Given the description of an element on the screen output the (x, y) to click on. 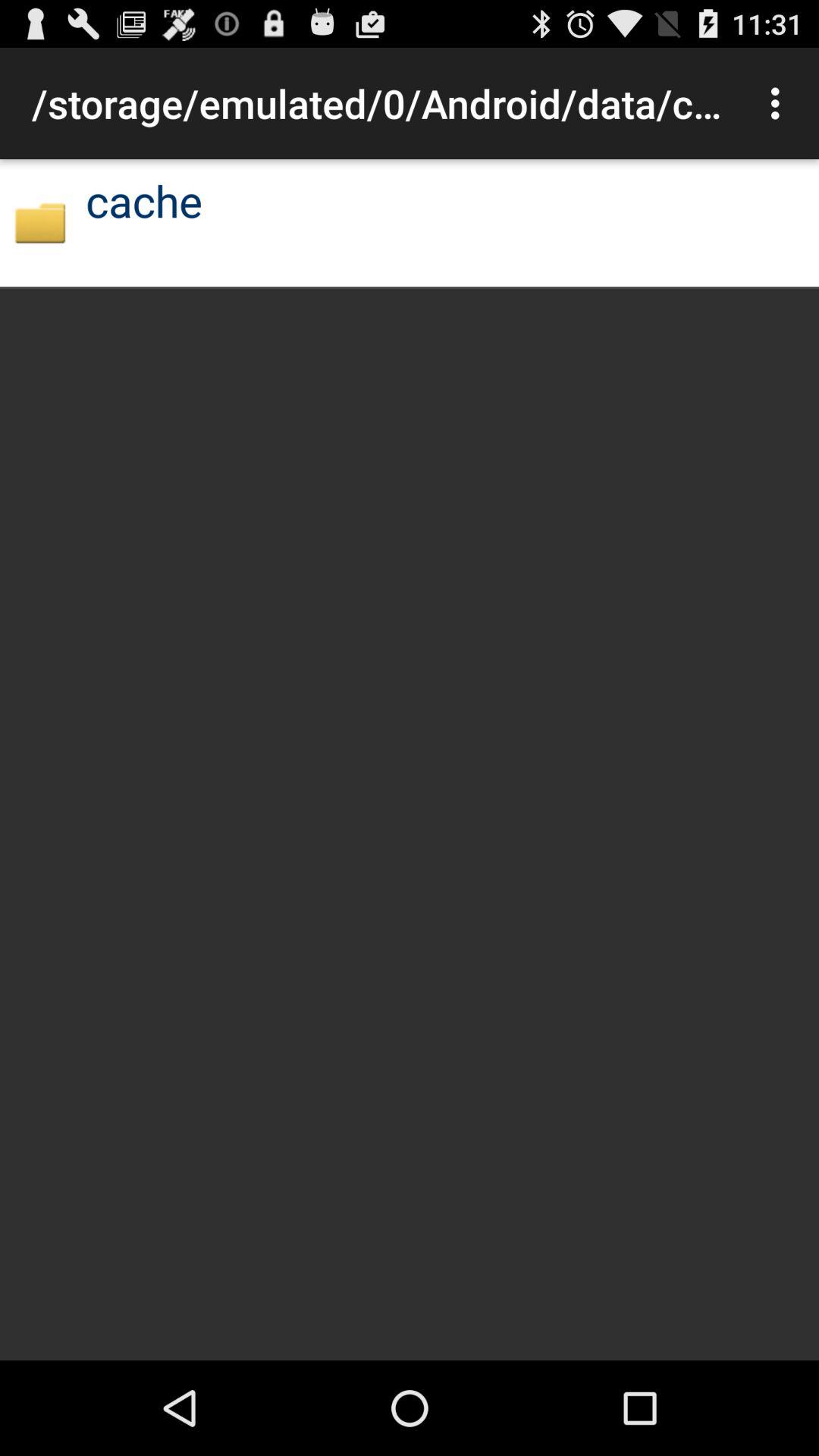
launch item at the top right corner (779, 103)
